Given the description of an element on the screen output the (x, y) to click on. 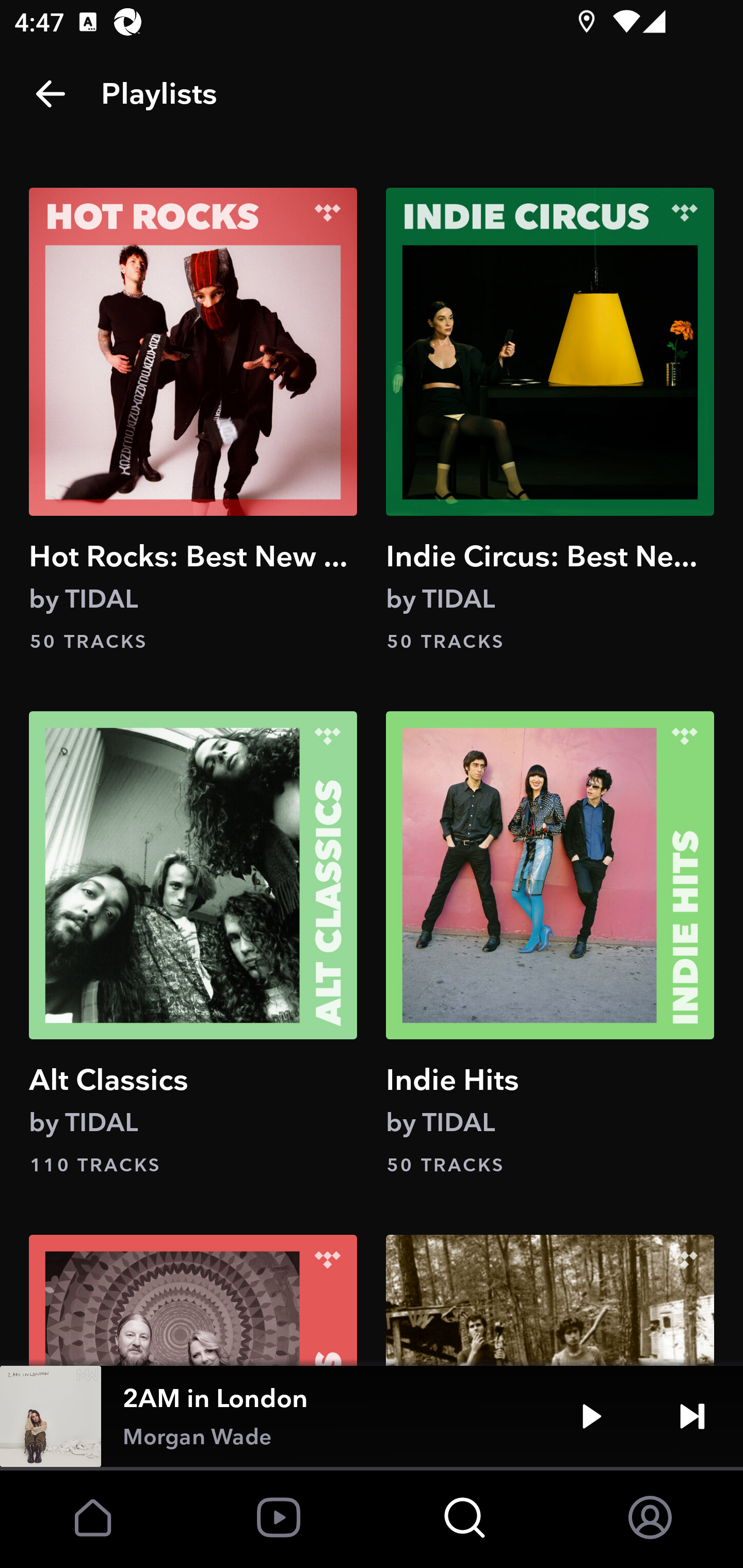
Hot Rocks: Best New Rock by TIDAL 50 TRACKS (192, 420)
Indie Circus: Best New Indie by TIDAL 50 TRACKS (549, 420)
Alt Classics by TIDAL 110 TRACKS (192, 944)
Indie Hits by TIDAL 50 TRACKS (549, 944)
2AM in London Morgan Wade Play (371, 1416)
Play (590, 1416)
